Given the description of an element on the screen output the (x, y) to click on. 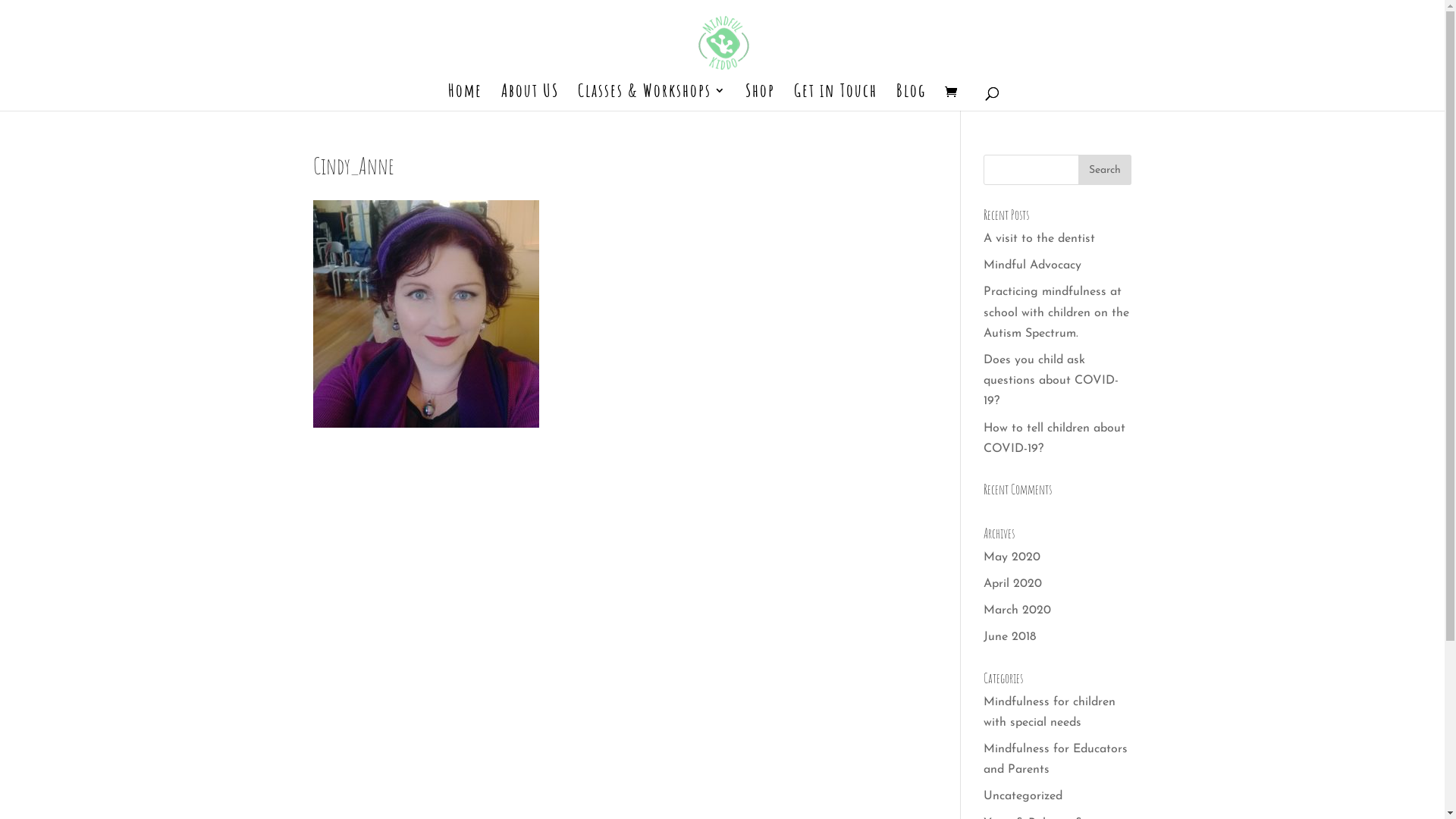
Mindfulness for children with special needs Element type: text (1049, 712)
Shop Element type: text (759, 97)
May 2020 Element type: text (1011, 557)
June 2018 Element type: text (1009, 636)
March 2020 Element type: text (1017, 610)
Uncategorized Element type: text (1022, 796)
How to tell children about COVID-19? Element type: text (1054, 437)
April 2020 Element type: text (1012, 583)
About US Element type: text (529, 97)
Mindfulness for Educators and Parents Element type: text (1055, 759)
A visit to the dentist Element type: text (1039, 238)
Blog Element type: text (910, 97)
Classes & Workshops Element type: text (651, 97)
Mindful Advocacy Element type: text (1032, 265)
Home Element type: text (464, 97)
Search Element type: text (1104, 169)
Get in Touch Element type: text (834, 97)
Does you child ask questions about COVID-19? Element type: text (1050, 380)
